Given the description of an element on the screen output the (x, y) to click on. 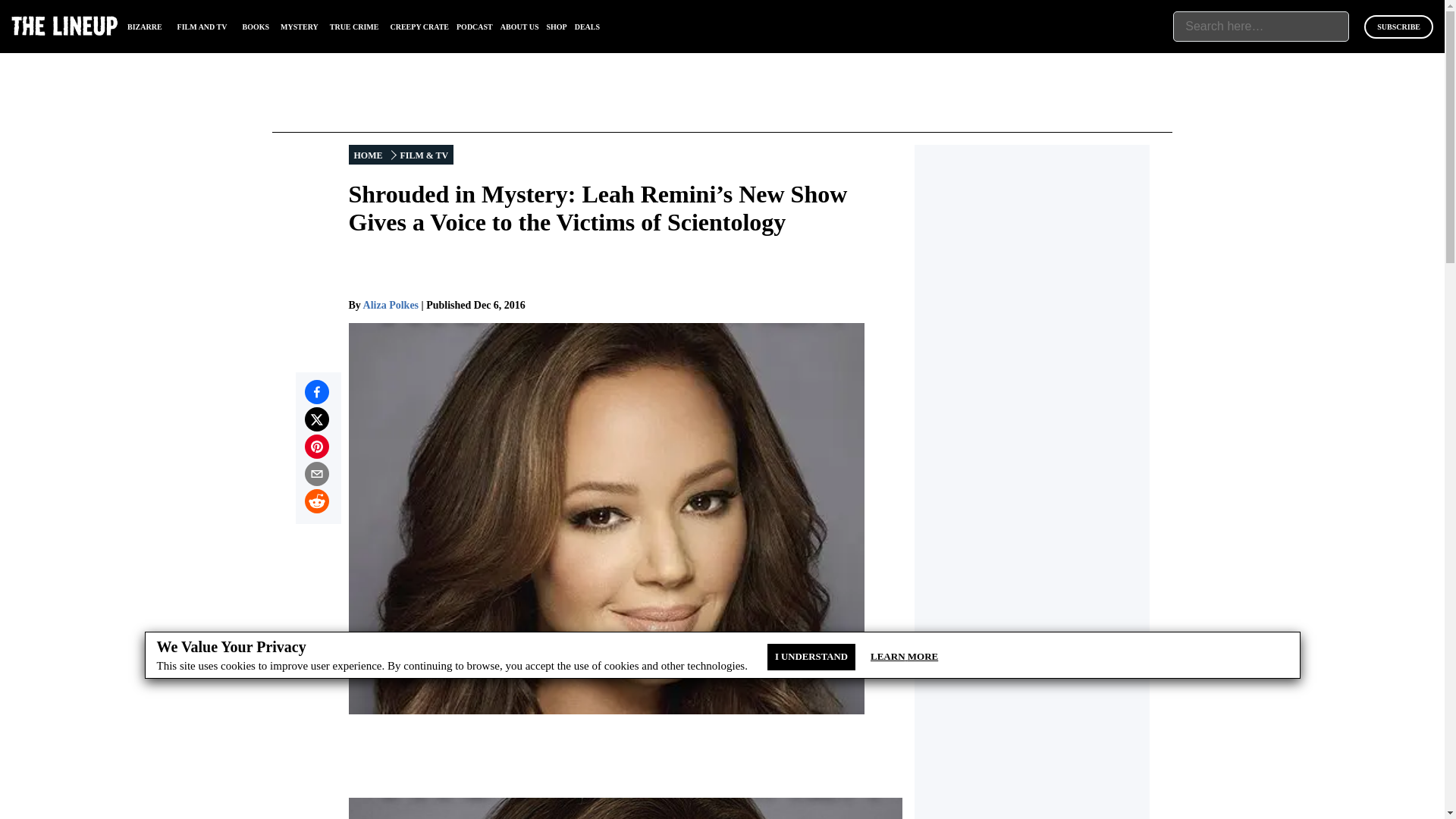
CREEPY CRATE (419, 26)
MYSTERY (299, 26)
BOOKS (256, 26)
HOME (368, 154)
The Lineup (64, 25)
SHOP (556, 26)
DEALS (587, 26)
LEARN MORE (903, 656)
ABOUT US (519, 26)
TRUE CRIME (354, 26)
BIZARRE (144, 26)
SUBSCRIBE (1399, 26)
PODCAST (475, 26)
Aliza Polkes (390, 305)
FILM AND TV (202, 26)
